Given the description of an element on the screen output the (x, y) to click on. 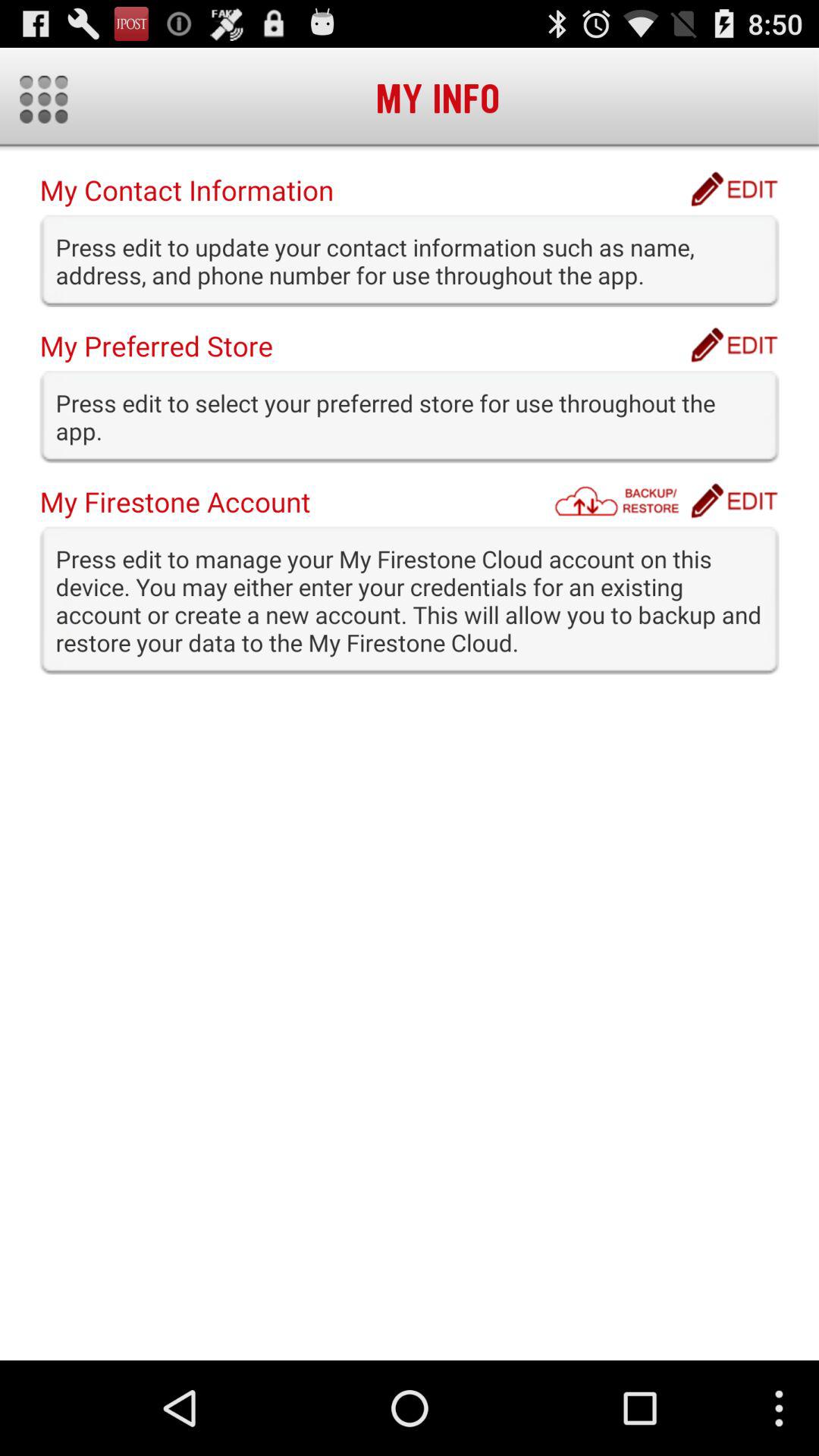
turn off the icon below press edit to icon (734, 500)
